Given the description of an element on the screen output the (x, y) to click on. 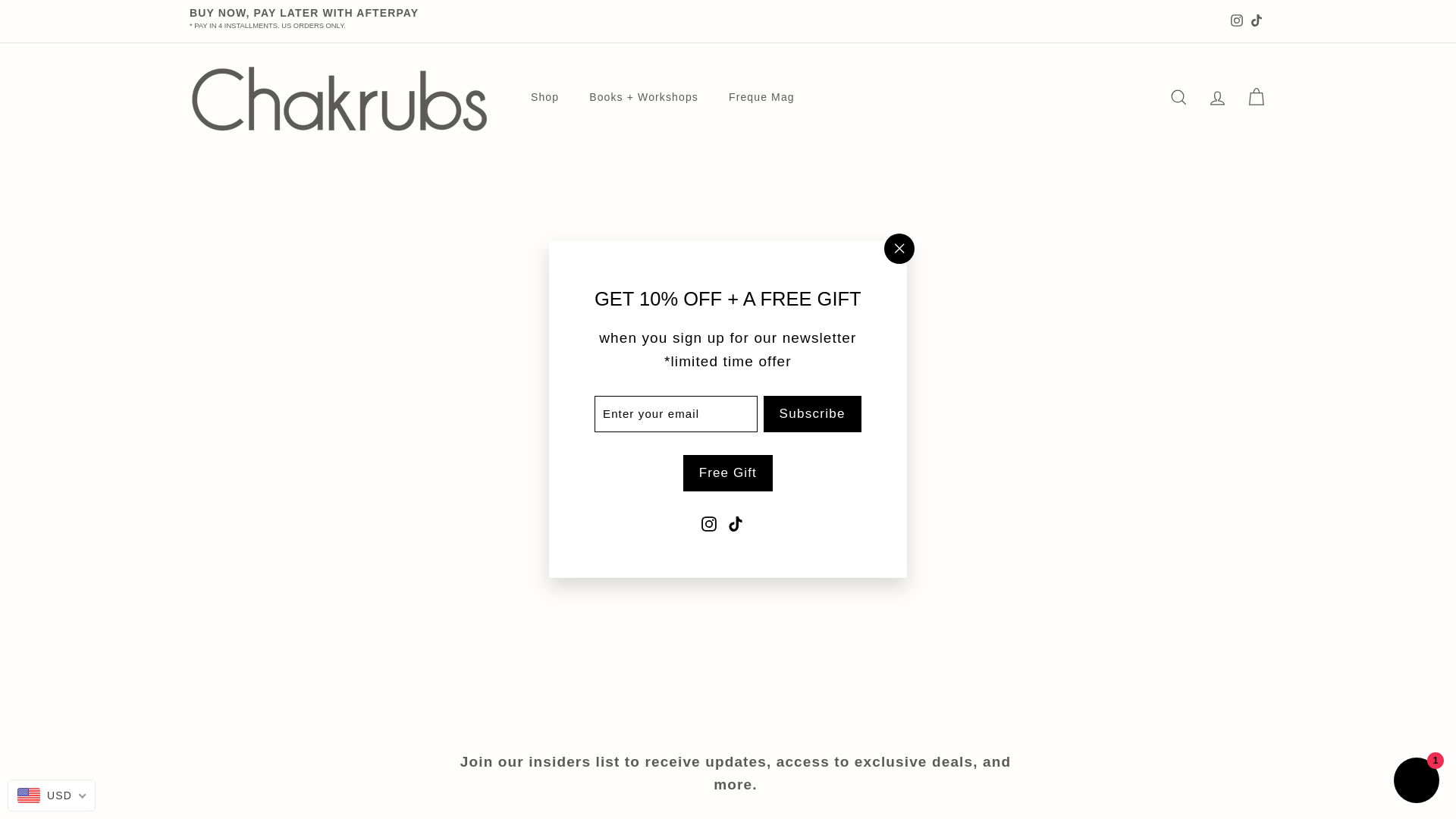
Instagram (708, 522)
instagram (1236, 20)
Freque Mag (761, 96)
Subscribe (811, 413)
Free Gift (727, 473)
Shopify online store chat (1416, 781)
Chakrubs on TikTok (735, 522)
Shop (544, 96)
Chakrubs on Instagram (708, 522)
